Given the description of an element on the screen output the (x, y) to click on. 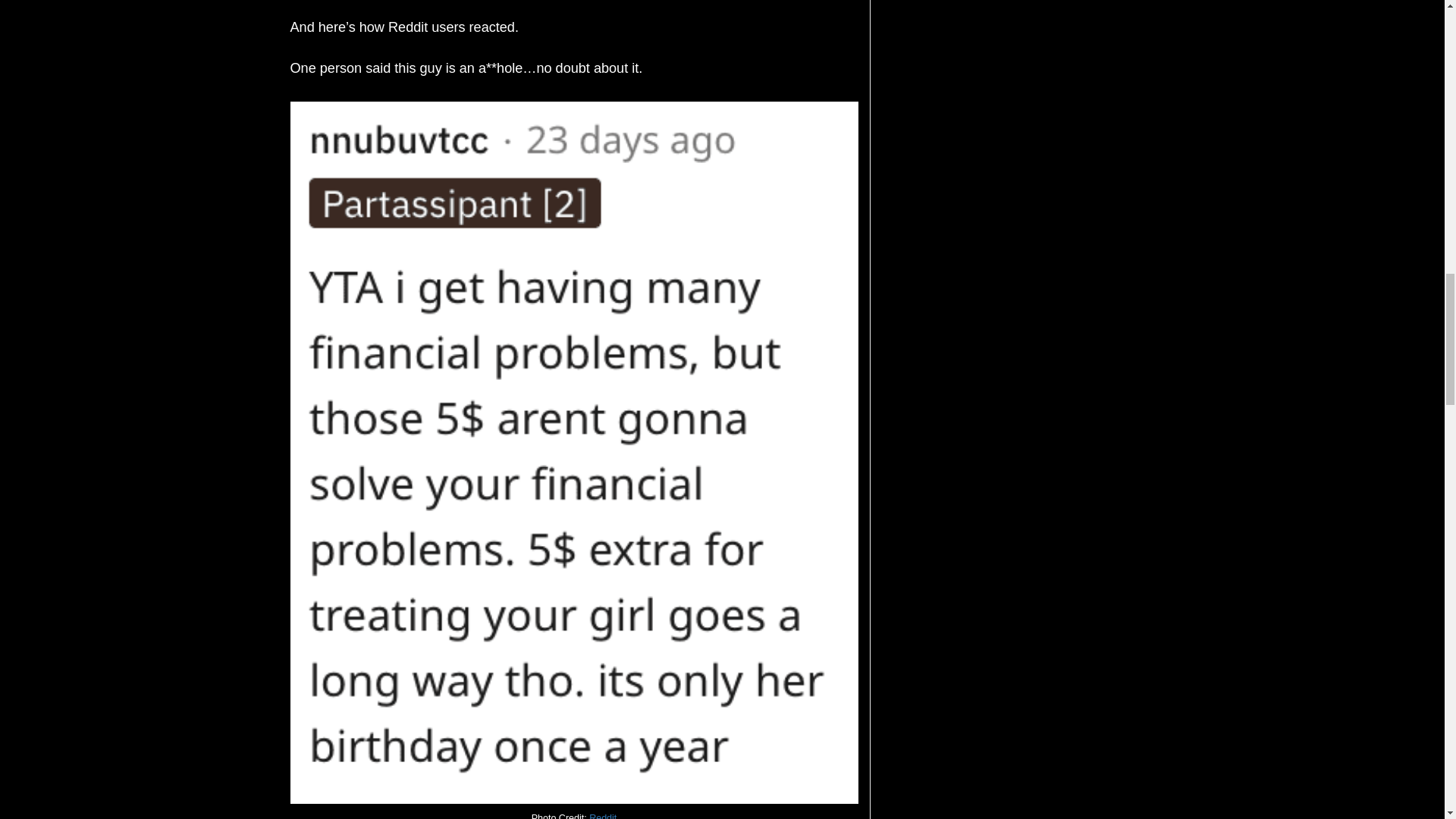
Reddit (602, 816)
